Given the description of an element on the screen output the (x, y) to click on. 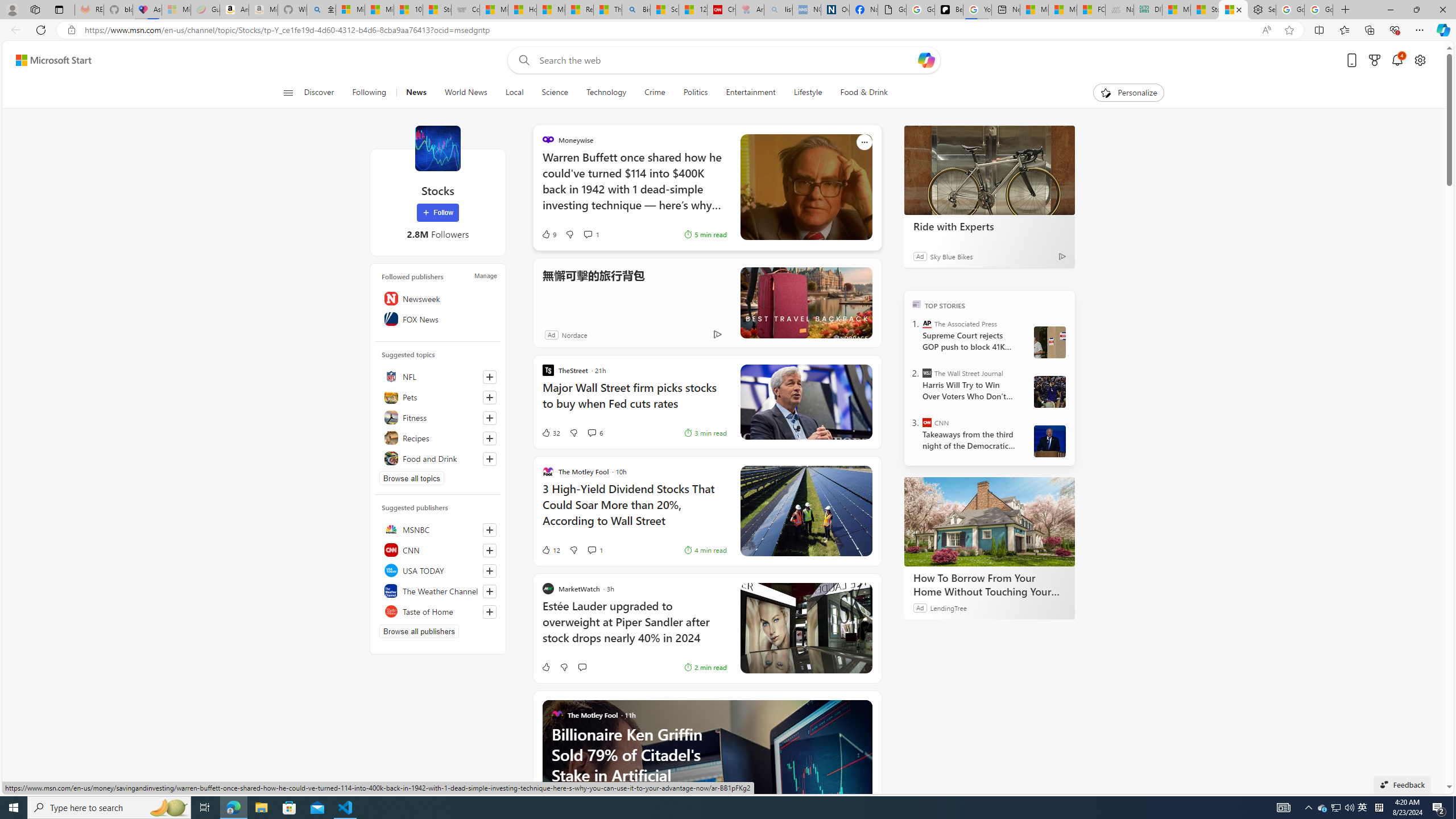
Local (514, 92)
To get missing image descriptions, open the context menu. (1105, 92)
Crime (654, 92)
Science (554, 92)
Microsoft-Report a Concern to Bing - Sleeping (176, 9)
9 Like (547, 233)
Newsweek (437, 298)
Follow (437, 212)
